Given the description of an element on the screen output the (x, y) to click on. 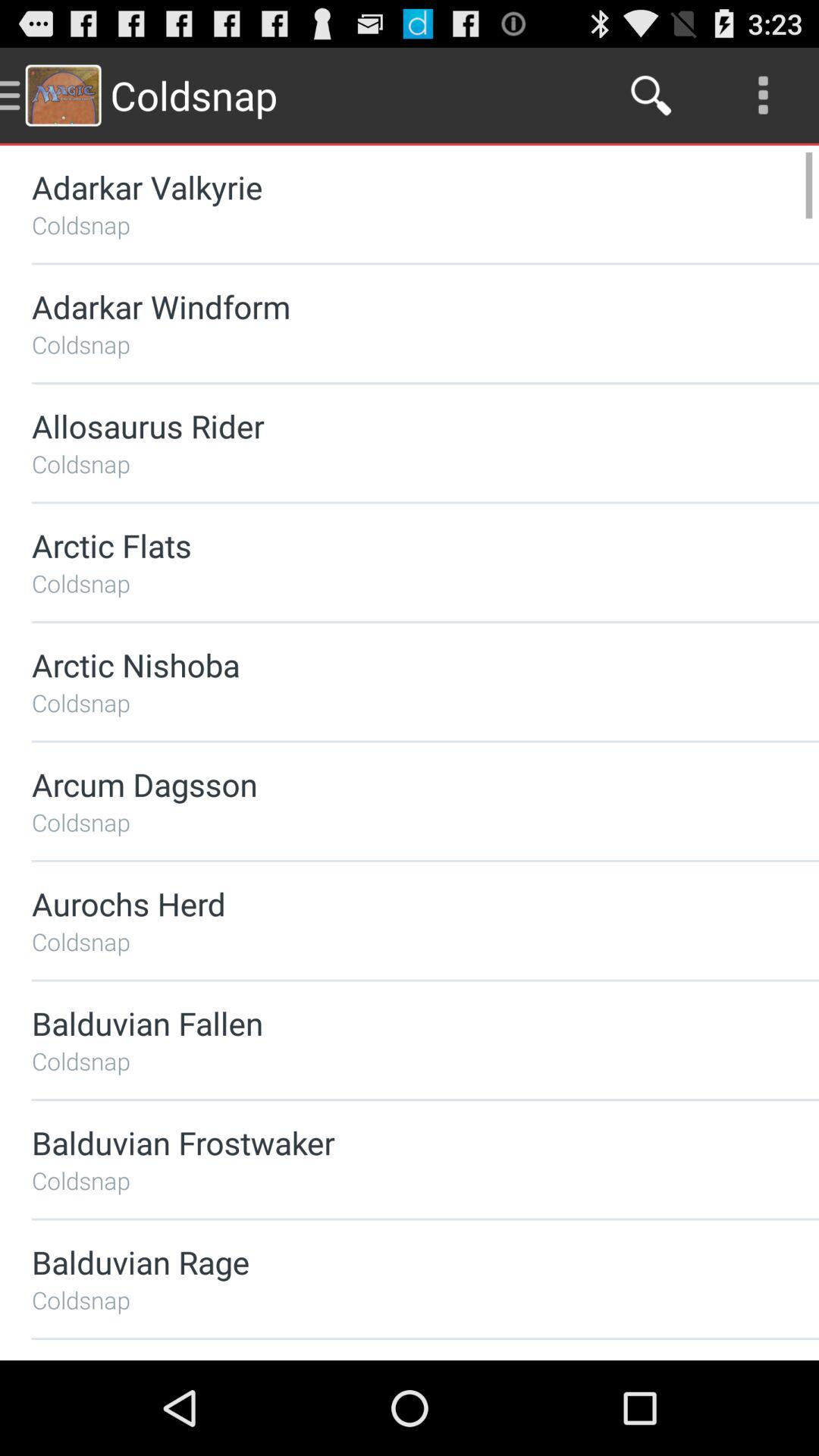
choose item above the coldsnap item (385, 425)
